Given the description of an element on the screen output the (x, y) to click on. 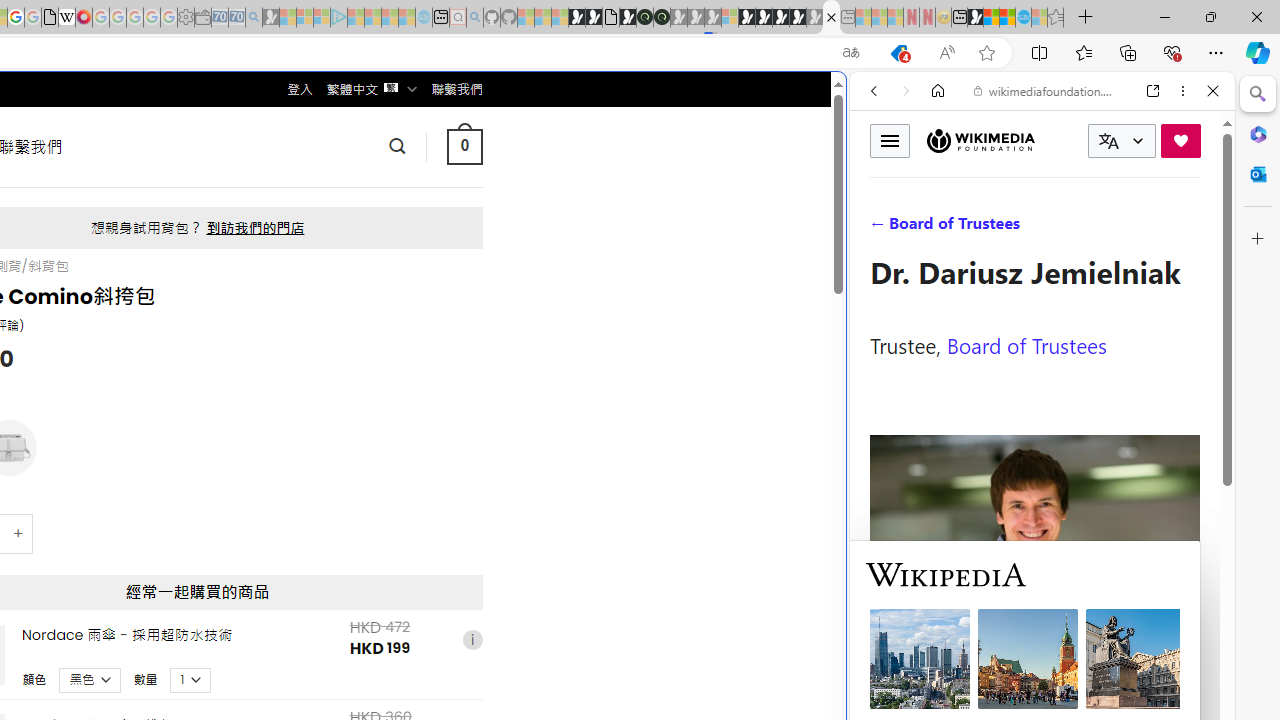
Target page - Wikipedia (66, 17)
